Given the description of an element on the screen output the (x, y) to click on. 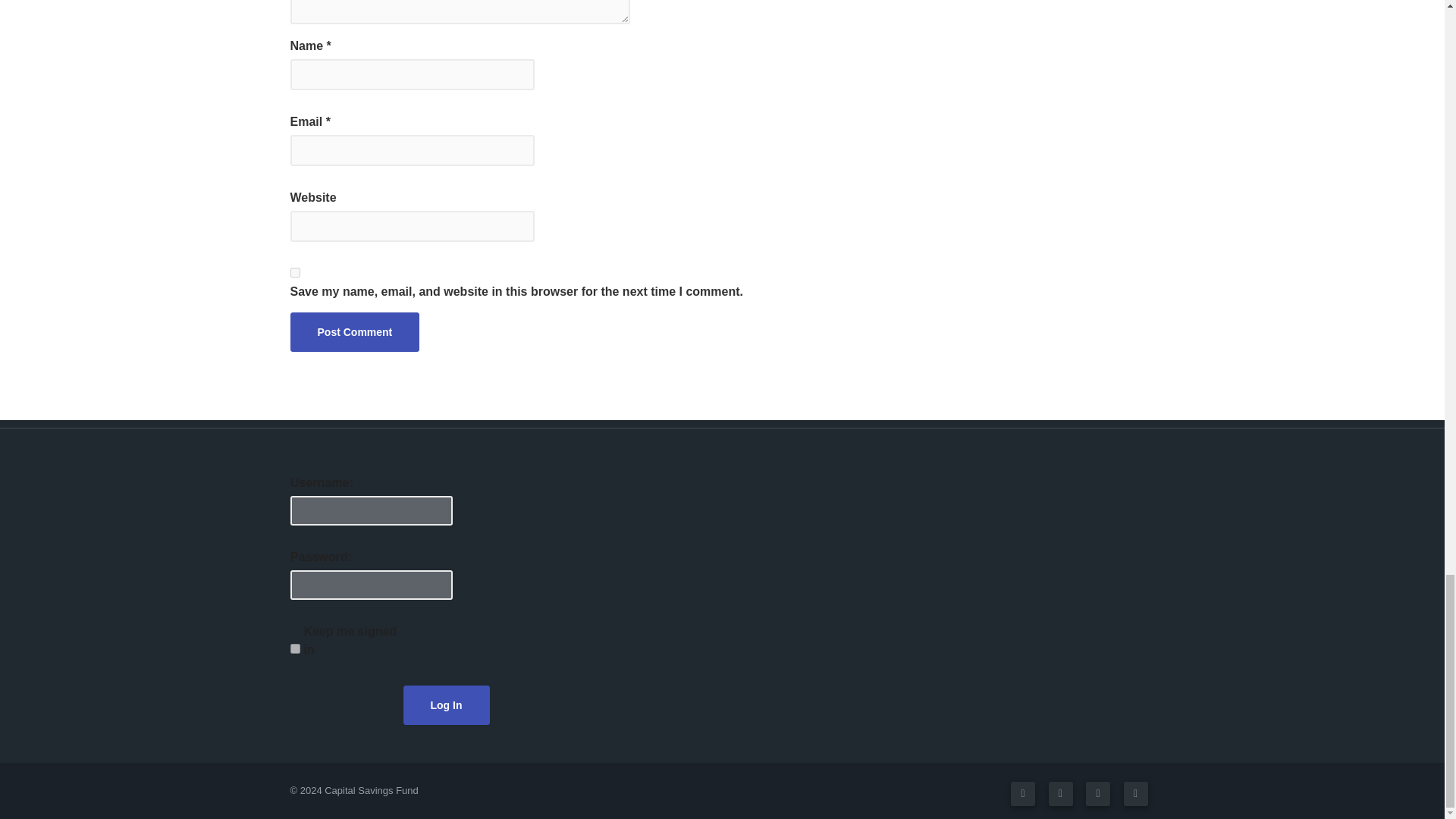
yes (294, 272)
Log In (444, 699)
Post Comment (354, 332)
forever (294, 648)
Post Comment (354, 332)
